Given the description of an element on the screen output the (x, y) to click on. 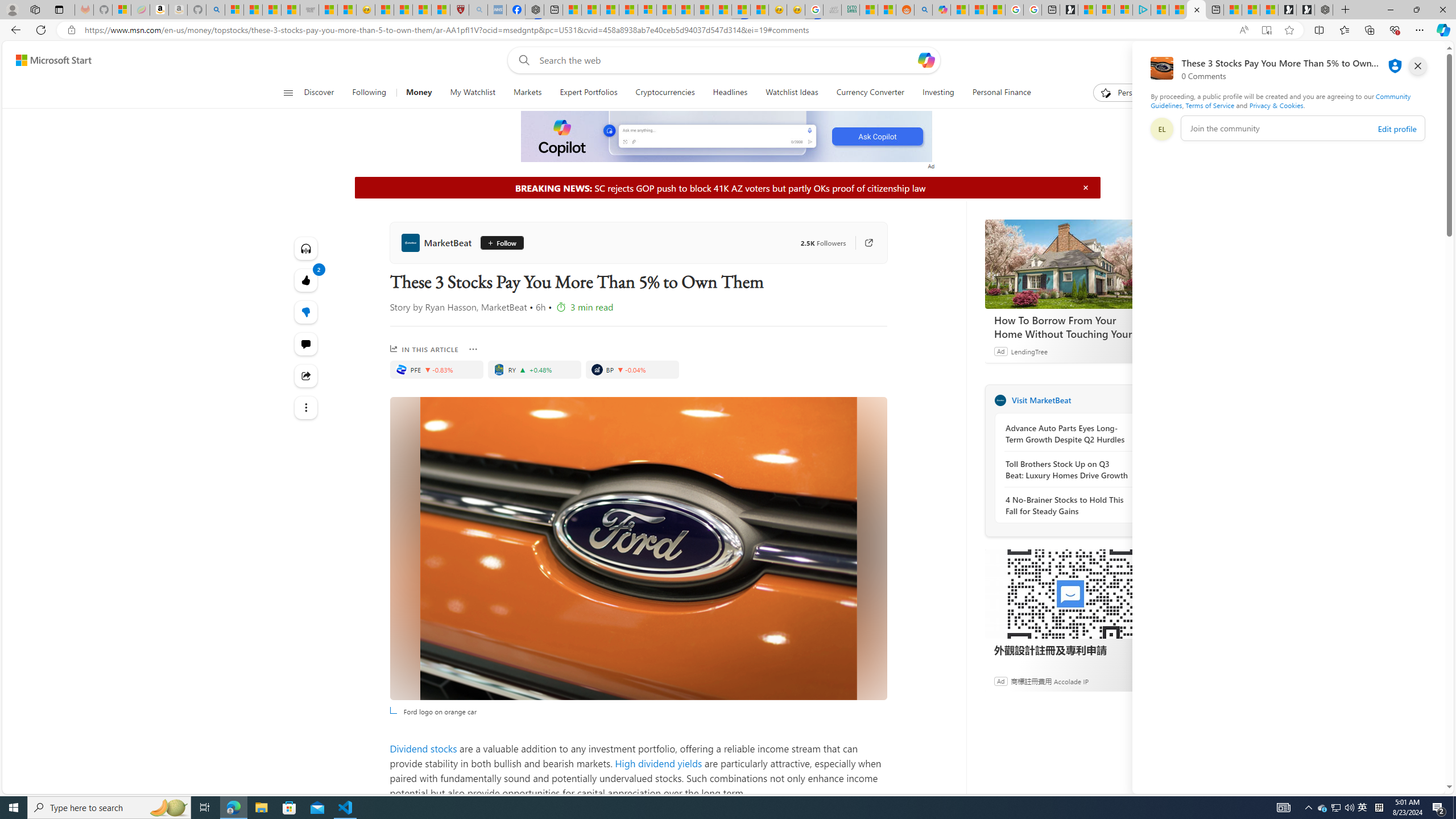
More Options (473, 348)
close (1417, 65)
Markets (526, 92)
